Given the description of an element on the screen output the (x, y) to click on. 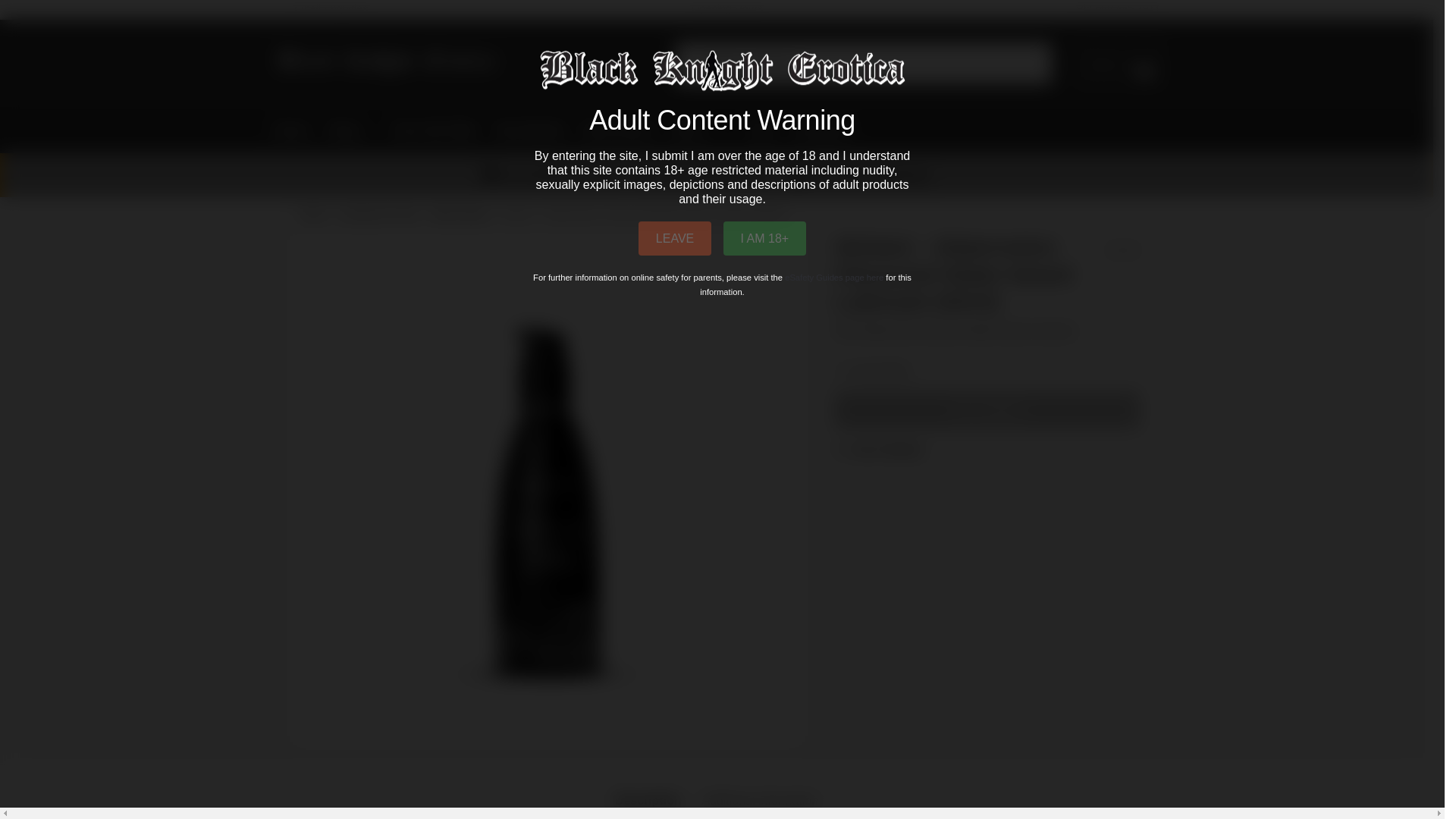
Search (699, 52)
Shop (350, 130)
Wishlist (887, 450)
Get notified (987, 410)
Home (295, 130)
Free Gift Offer (434, 130)
Click'n'Collect available for online orders! (703, 174)
View your shopping cart (1119, 63)
Email Us (327, 8)
